Given the description of an element on the screen output the (x, y) to click on. 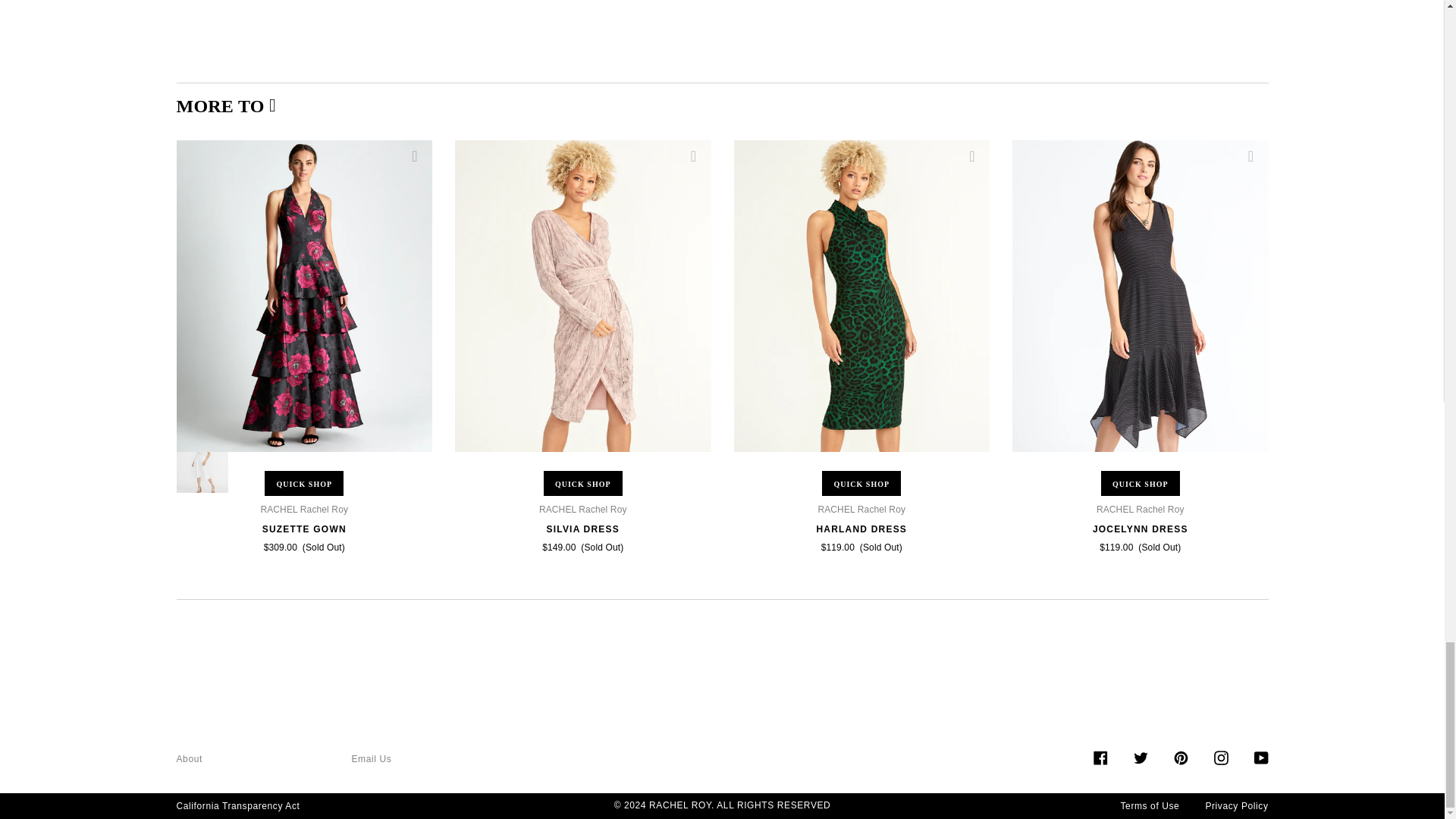
Rachel Roy on Facebook (1100, 756)
Rachel Roy on YouTube (1260, 756)
Rachel Roy on Instagram (1219, 756)
Rachel Roy on Twitter (1139, 756)
QUICK SHOP (303, 483)
SUZETTE GOWN (304, 529)
Rachel Roy on Pinterest (1180, 756)
